Given the description of an element on the screen output the (x, y) to click on. 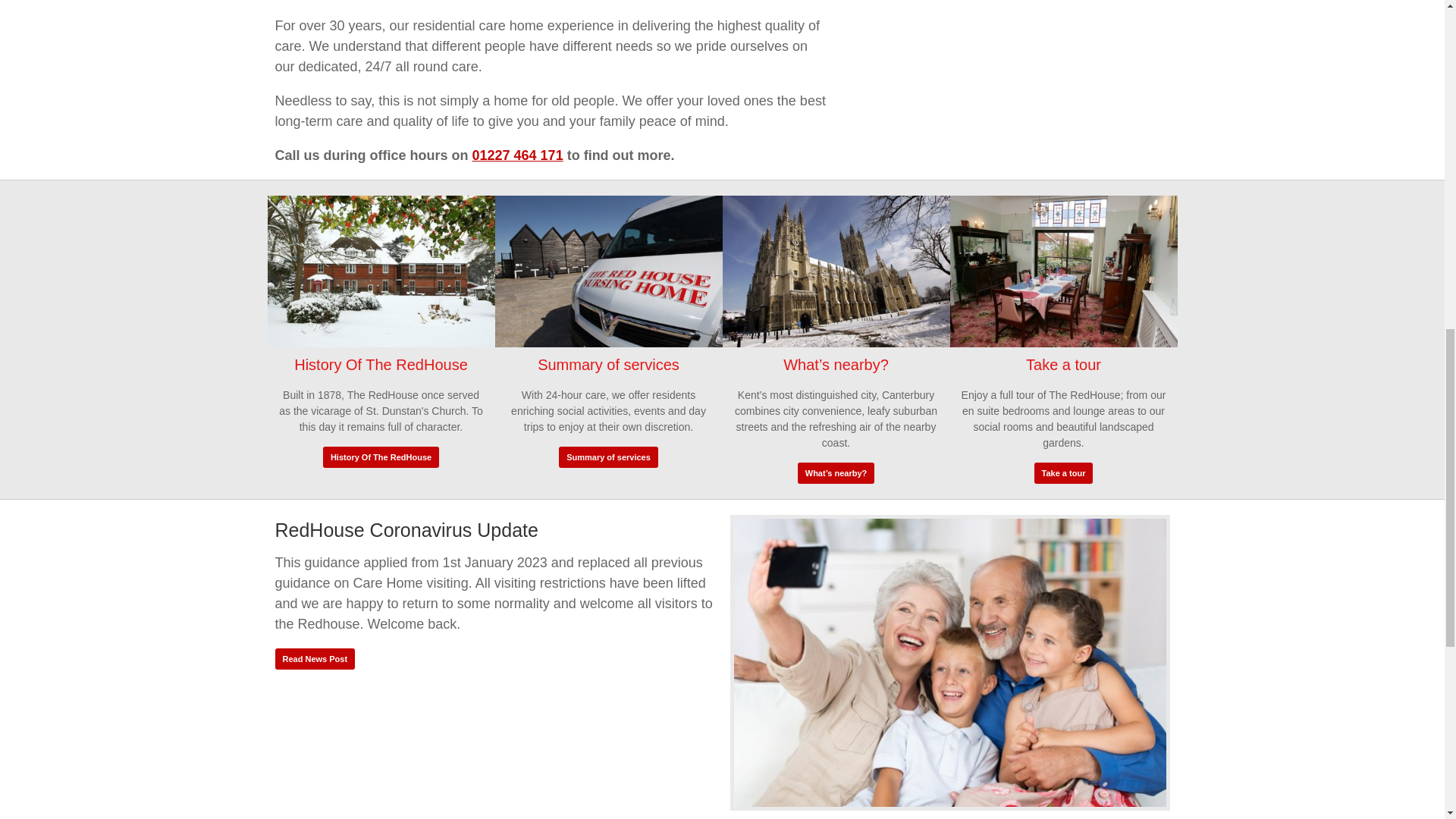
Take a tour (1063, 473)
Permanent Link to RedHouse Coronavirus Update (949, 664)
History Of The RedHouse (381, 456)
Read News Post (315, 658)
01227 464 171 (517, 155)
Summary of services (608, 456)
